Given the description of an element on the screen output the (x, y) to click on. 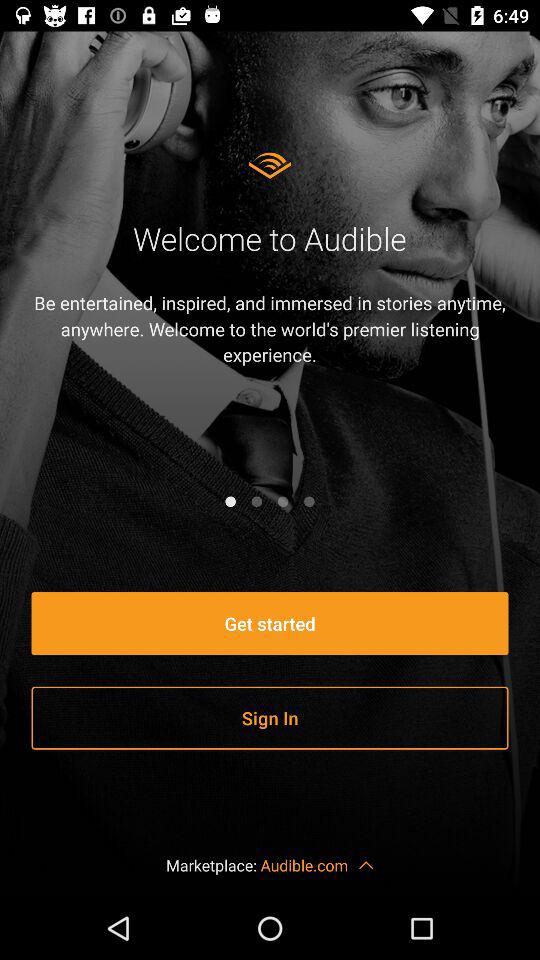
tap item below be entertained inspired item (256, 501)
